Given the description of an element on the screen output the (x, y) to click on. 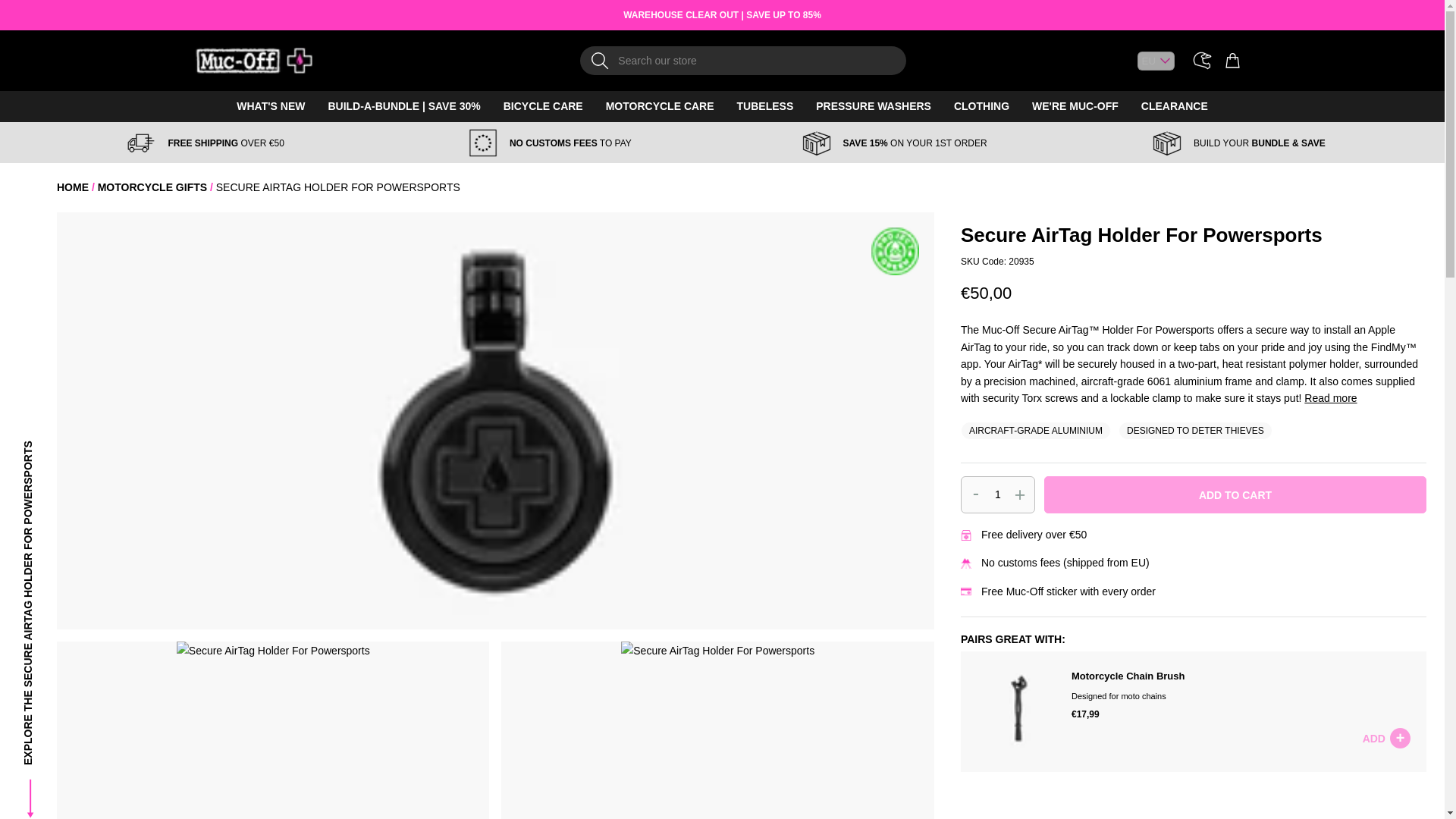
1 (997, 494)
Skip to content (203, 55)
home (72, 186)
WHAT'S NEW (269, 106)
